Given the description of an element on the screen output the (x, y) to click on. 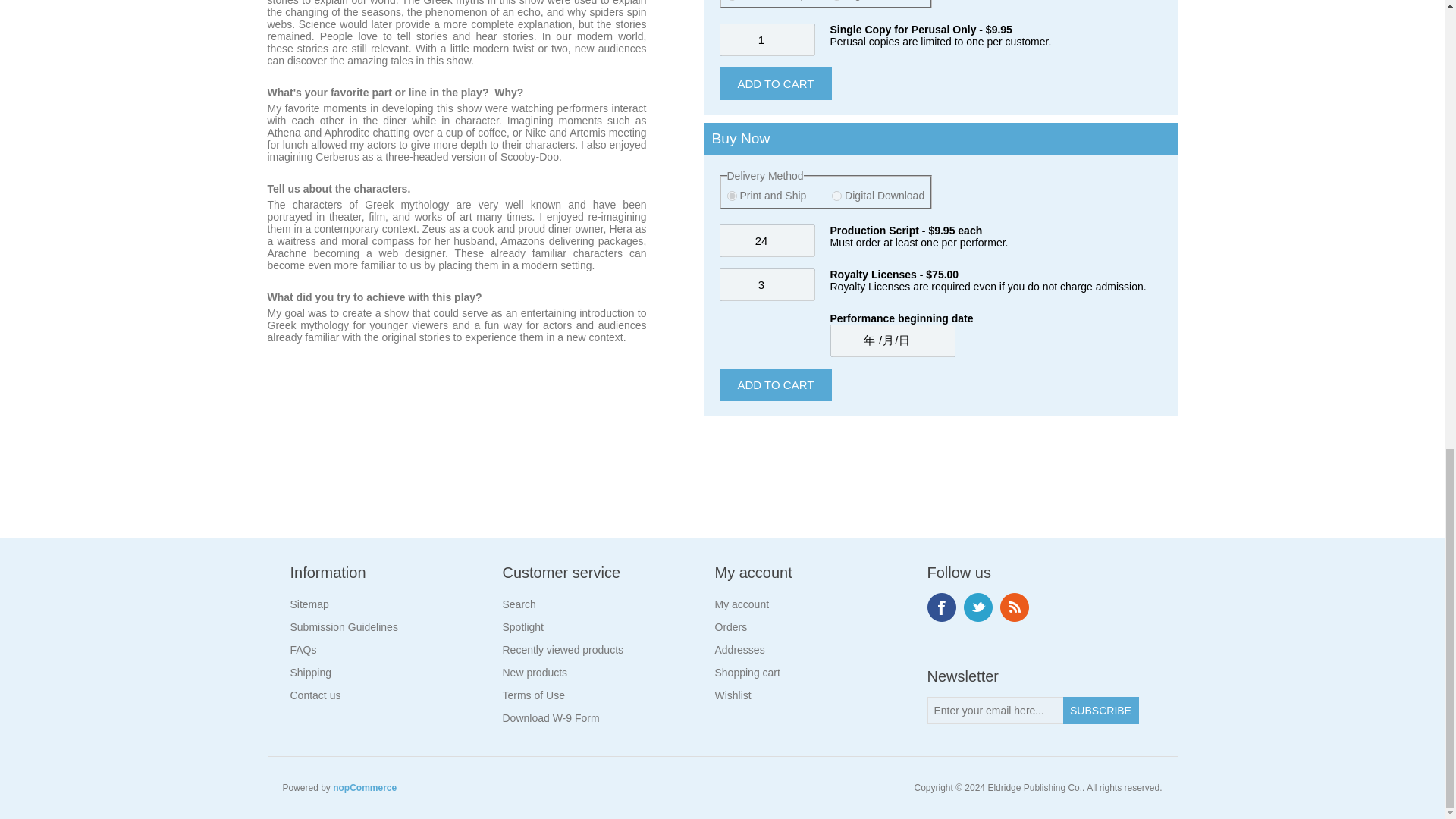
false (731, 195)
Add to cart (775, 83)
1 (766, 39)
3 (766, 284)
24 (766, 240)
Subscribe (1100, 709)
true (836, 195)
Add to Cart (775, 384)
